Given the description of an element on the screen output the (x, y) to click on. 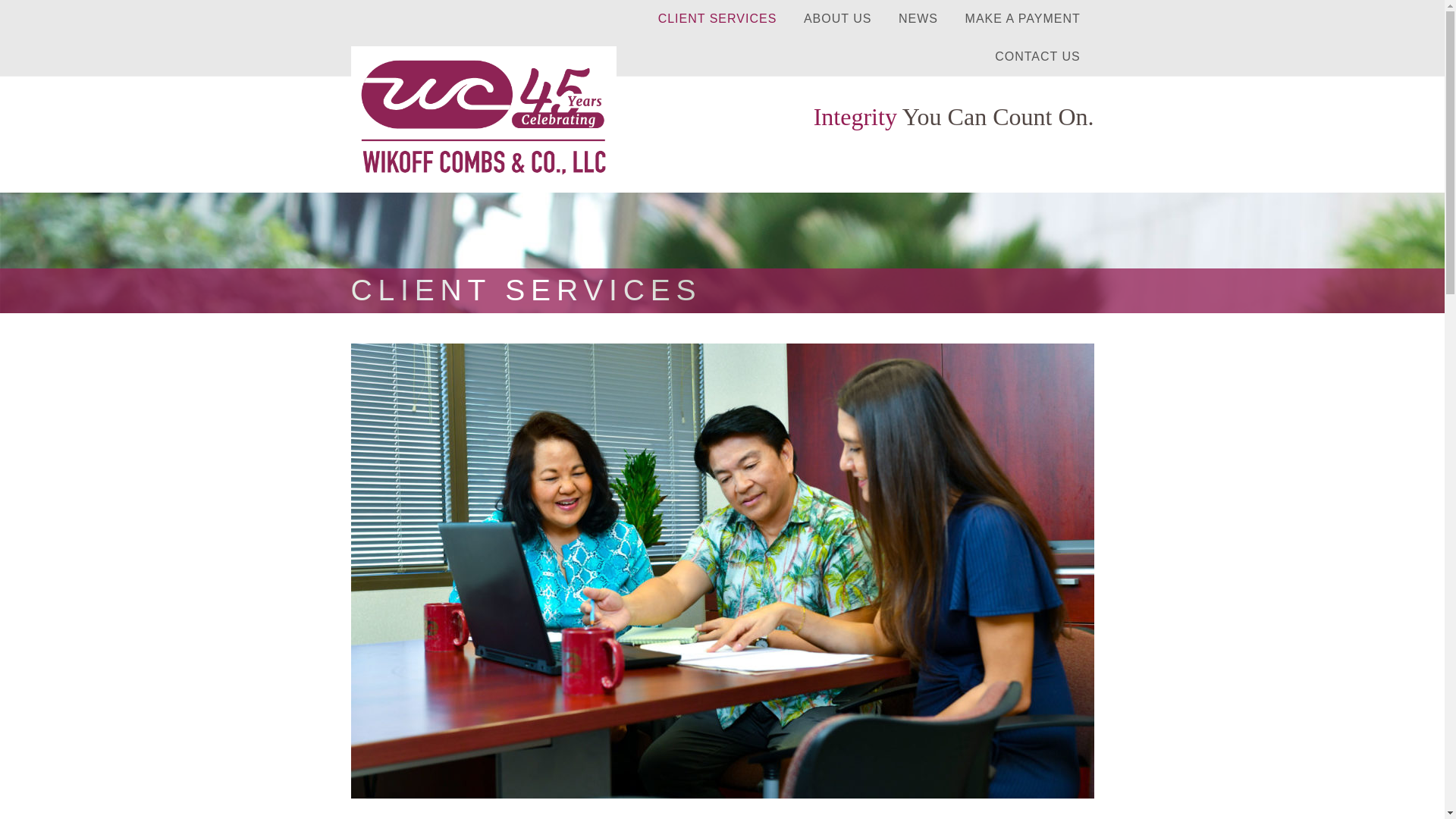
MAKE A PAYMENT (1023, 18)
ABOUT US (837, 18)
CONTACT US (1037, 56)
CLIENT SERVICES (717, 18)
NEWS (918, 18)
